Given the description of an element on the screen output the (x, y) to click on. 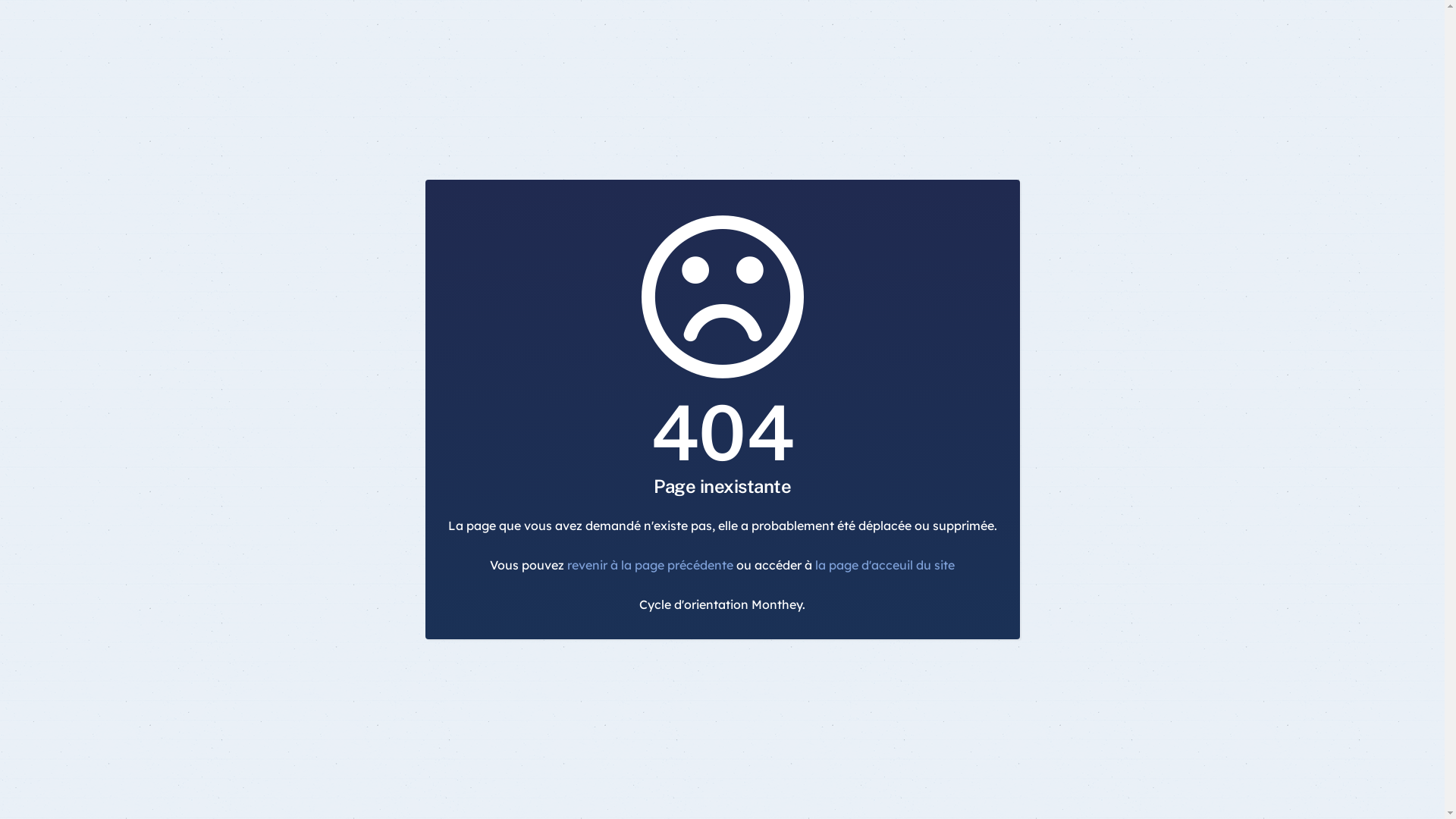
la page d'acceuil du site Element type: text (884, 564)
